Given the description of an element on the screen output the (x, y) to click on. 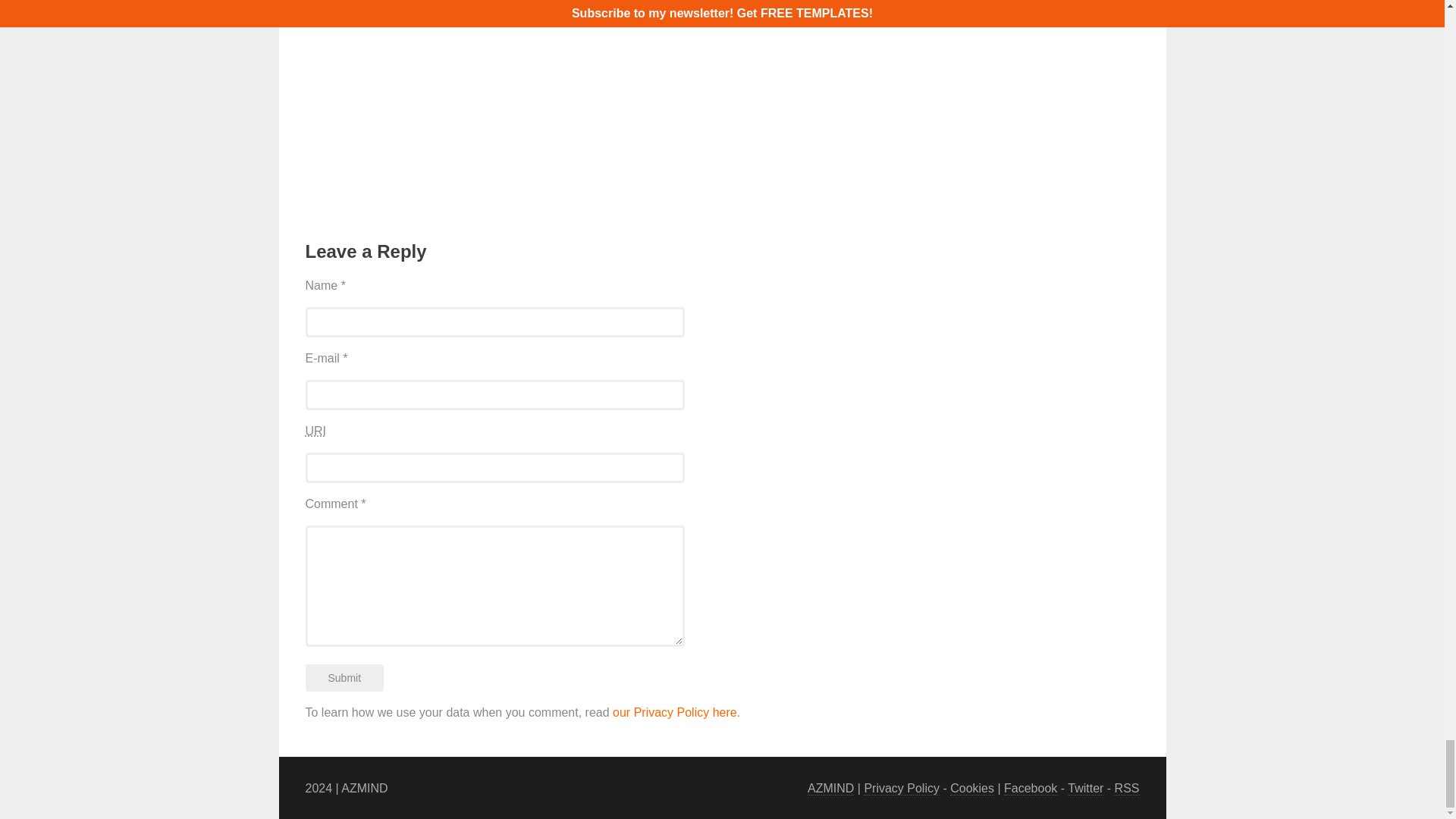
Submit (344, 677)
